Given the description of an element on the screen output the (x, y) to click on. 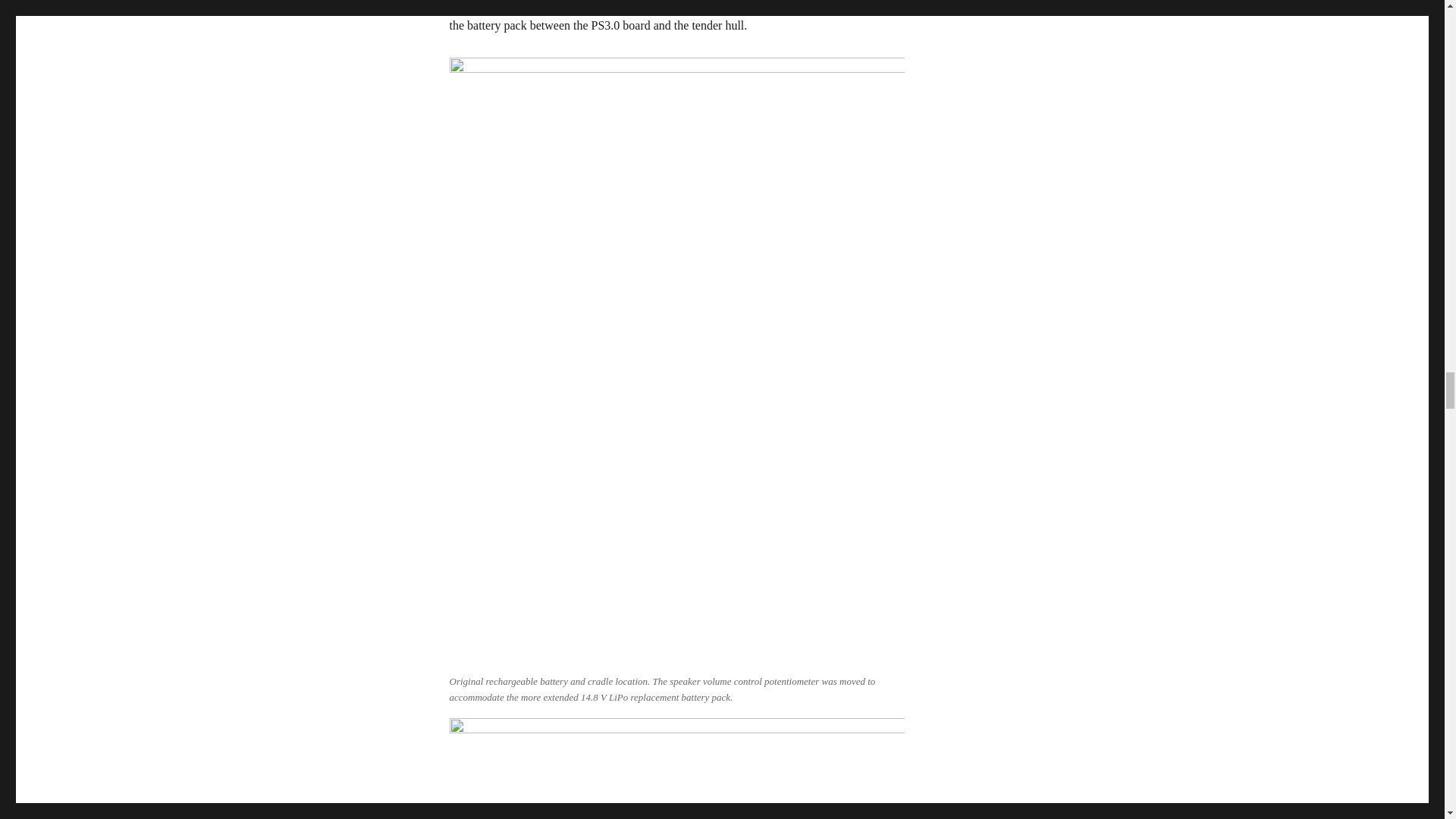
Tenergy.com (595, 5)
